Given the description of an element on the screen output the (x, y) to click on. 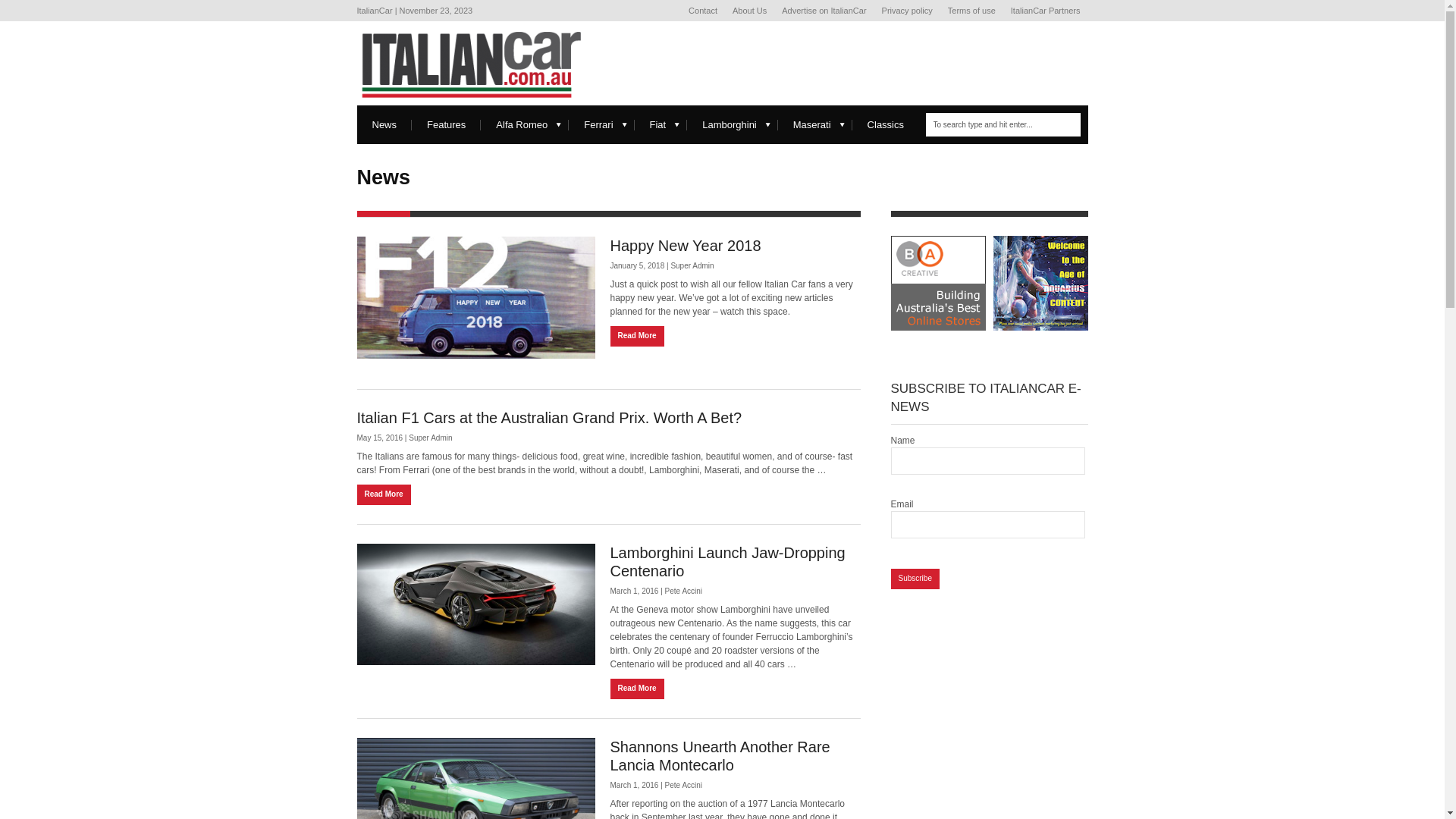
Read More Element type: text (383, 494)
About Us Element type: text (749, 10)
Italian F1 Cars at the Australian Grand Prix. Worth A Bet? Element type: text (548, 417)
Read More Element type: text (636, 336)
Lamborghini Launch Jaw-Dropping Centenario Element type: text (726, 561)
Contact Element type: text (702, 10)
Features Element type: text (445, 124)
News Element type: text (383, 124)
Shannons Unearth Another Rare Lancia Montecarlo Element type: text (719, 755)
Super Admin Element type: text (429, 437)
Advertise on ItalianCar Element type: text (823, 10)
Privacy policy Element type: text (907, 10)
Happy New Year 2018 Element type: text (684, 245)
Subscribe Element type: text (914, 578)
ItalianCar Partners Element type: text (1045, 10)
Permanent Link to Happy New Year 2018 Element type: hover (475, 297)
Super Admin Element type: text (691, 265)
Read More Element type: text (636, 688)
Classics Element type: text (885, 124)
Pete Accini Element type: text (683, 590)
Pete Accini Element type: text (683, 785)
Terms of use Element type: text (971, 10)
Permanent Link to Lamborghini Launch Jaw-Dropping Centenario Element type: hover (475, 604)
